Given the description of an element on the screen output the (x, y) to click on. 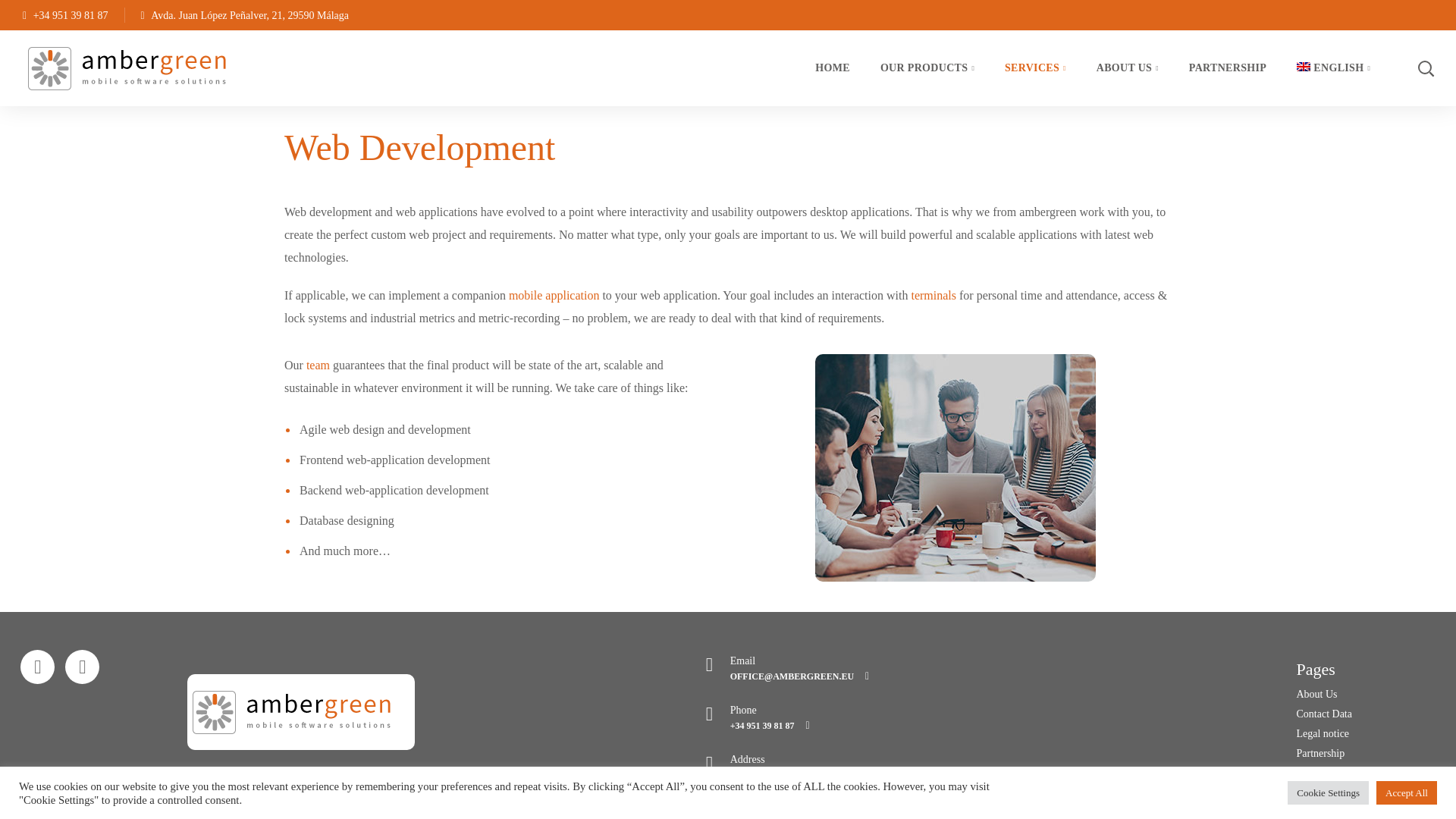
Search (1386, 37)
SERVICES (1035, 68)
PARTNERSHIP (1227, 68)
OUR PRODUCTS (927, 68)
English (1333, 68)
ABOUT US (1127, 68)
Mail (37, 666)
ENGLISH (1333, 68)
English (1303, 66)
Search (1386, 143)
